Given the description of an element on the screen output the (x, y) to click on. 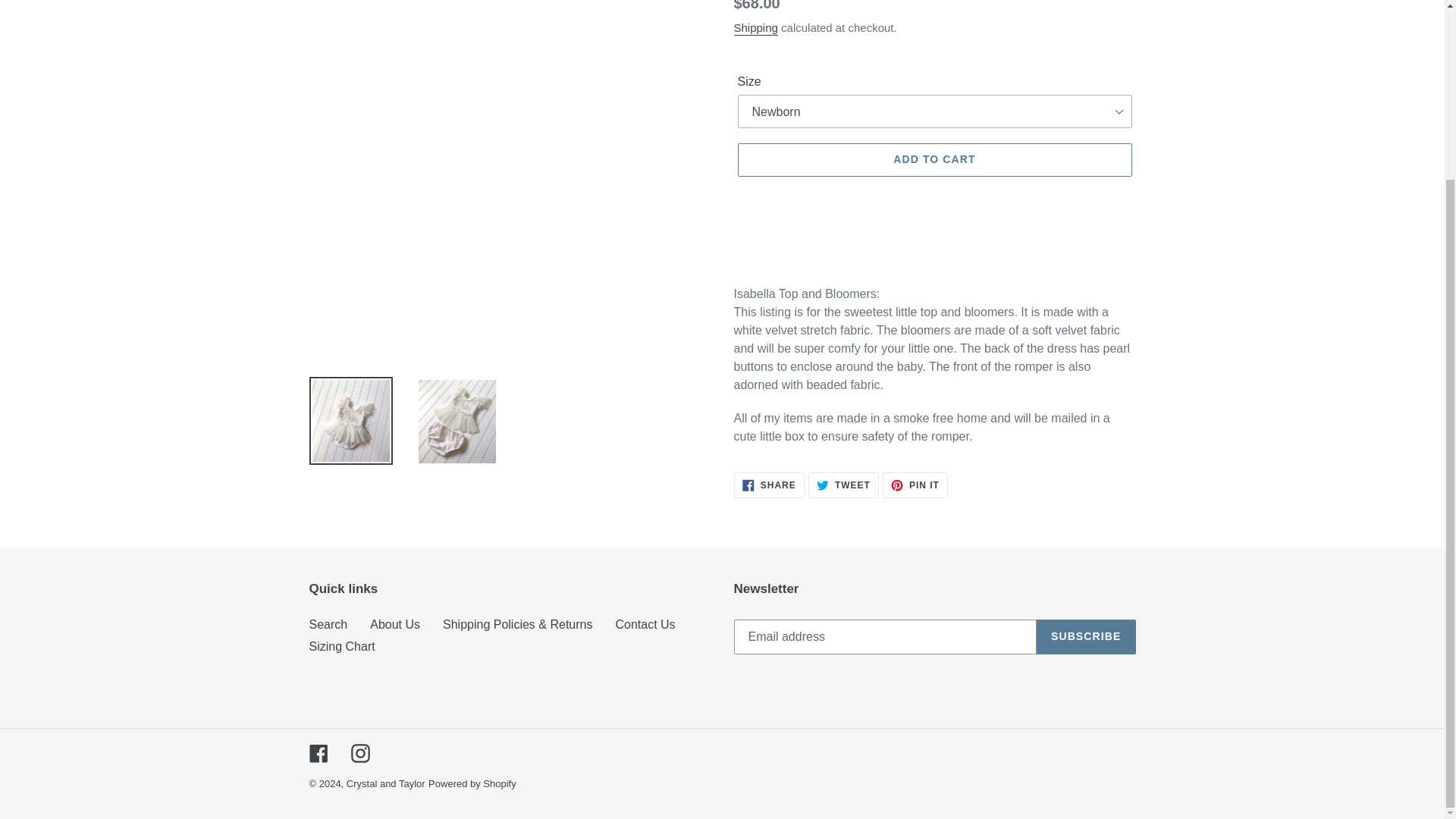
Crystal and Taylor (385, 783)
Search (843, 484)
SUBSCRIBE (327, 624)
Facebook (1085, 636)
Shipping (318, 752)
Sizing Chart (755, 28)
ADD TO CART (341, 645)
Instagram (933, 159)
Powered by Shopify (914, 484)
About Us (359, 752)
Contact Us (472, 783)
